Given the description of an element on the screen output the (x, y) to click on. 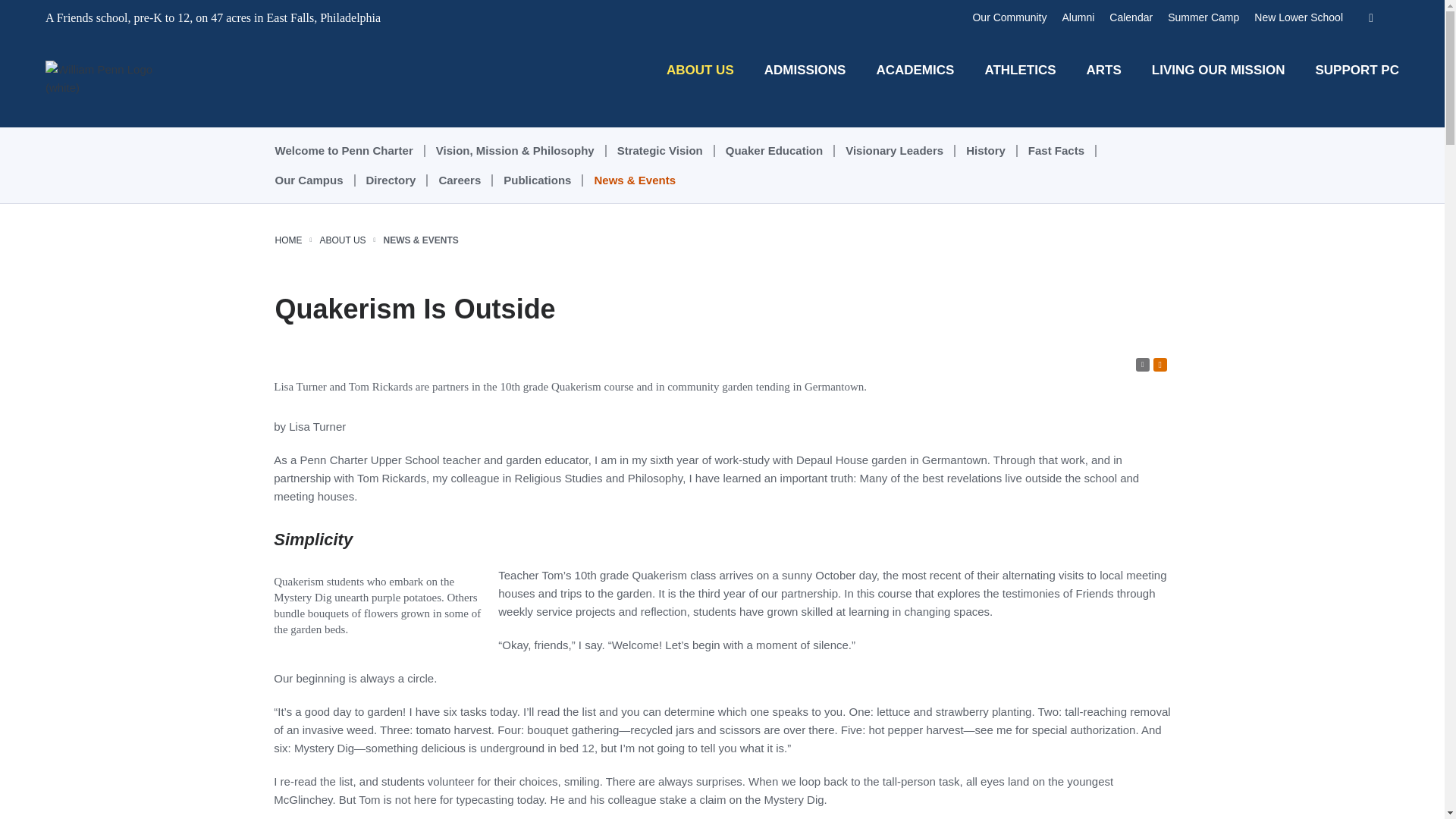
RSS (1142, 364)
Alerts (1160, 364)
